Given the description of an element on the screen output the (x, y) to click on. 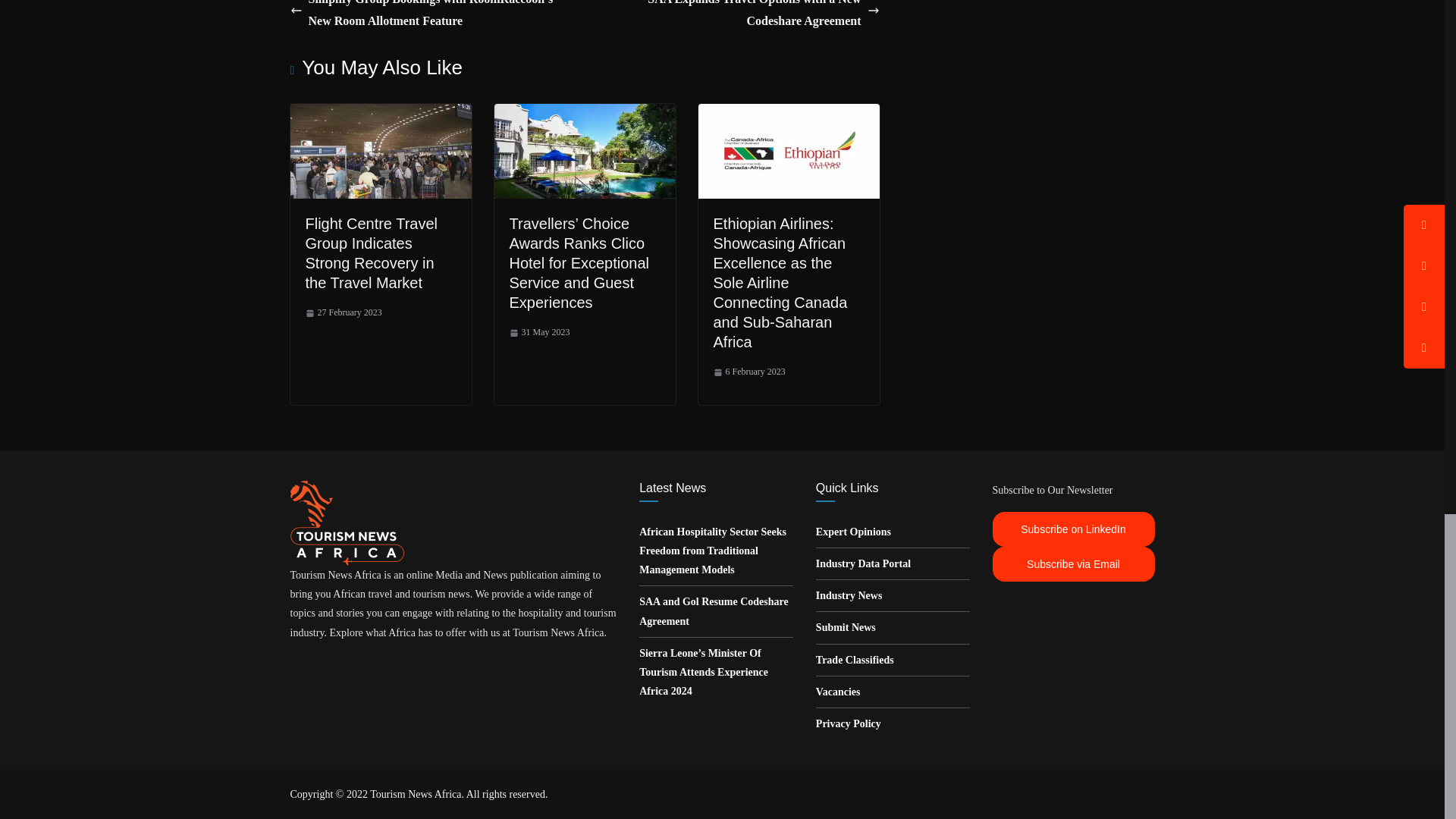
12:12 pm (342, 312)
